Given the description of an element on the screen output the (x, y) to click on. 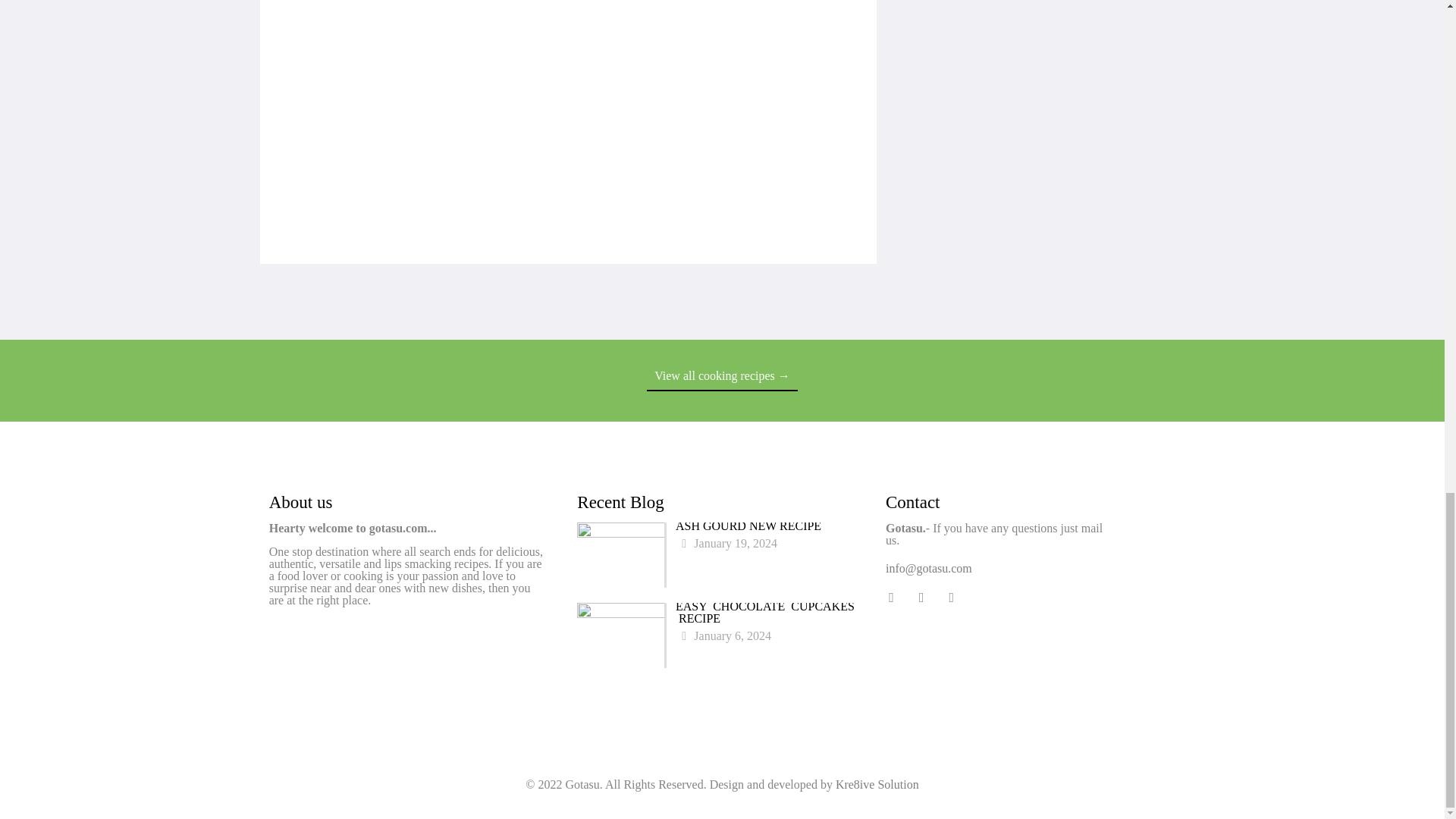
Kre8ive Solution (876, 784)
YouTube video player (721, 626)
